Given the description of an element on the screen output the (x, y) to click on. 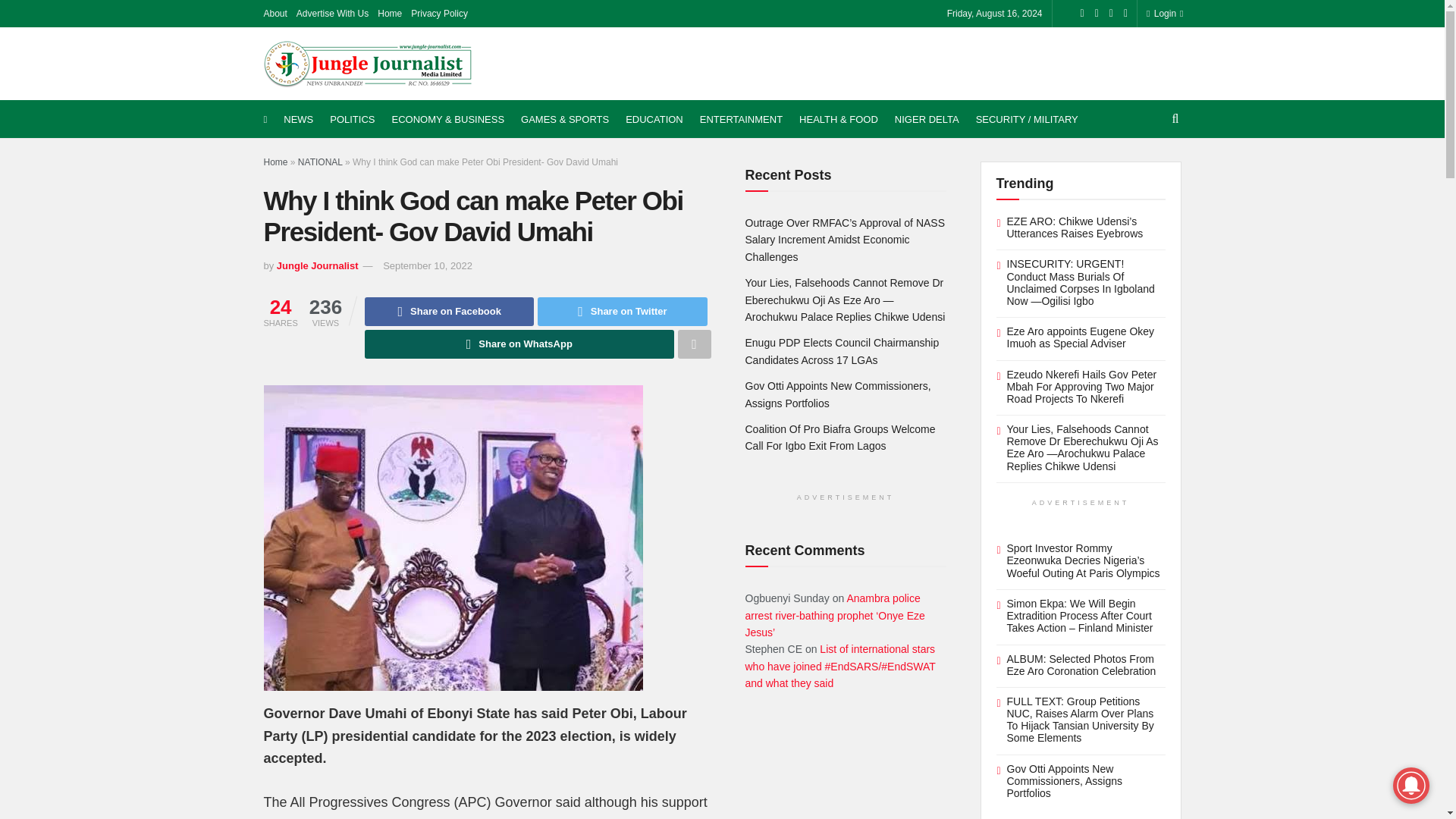
POLITICS (352, 119)
EDUCATION (654, 119)
Advertise With Us (332, 13)
NEWS (298, 119)
Login (1161, 13)
NIGER DELTA (927, 119)
ENTERTAINMENT (741, 119)
Privacy Policy (438, 13)
